Given the description of an element on the screen output the (x, y) to click on. 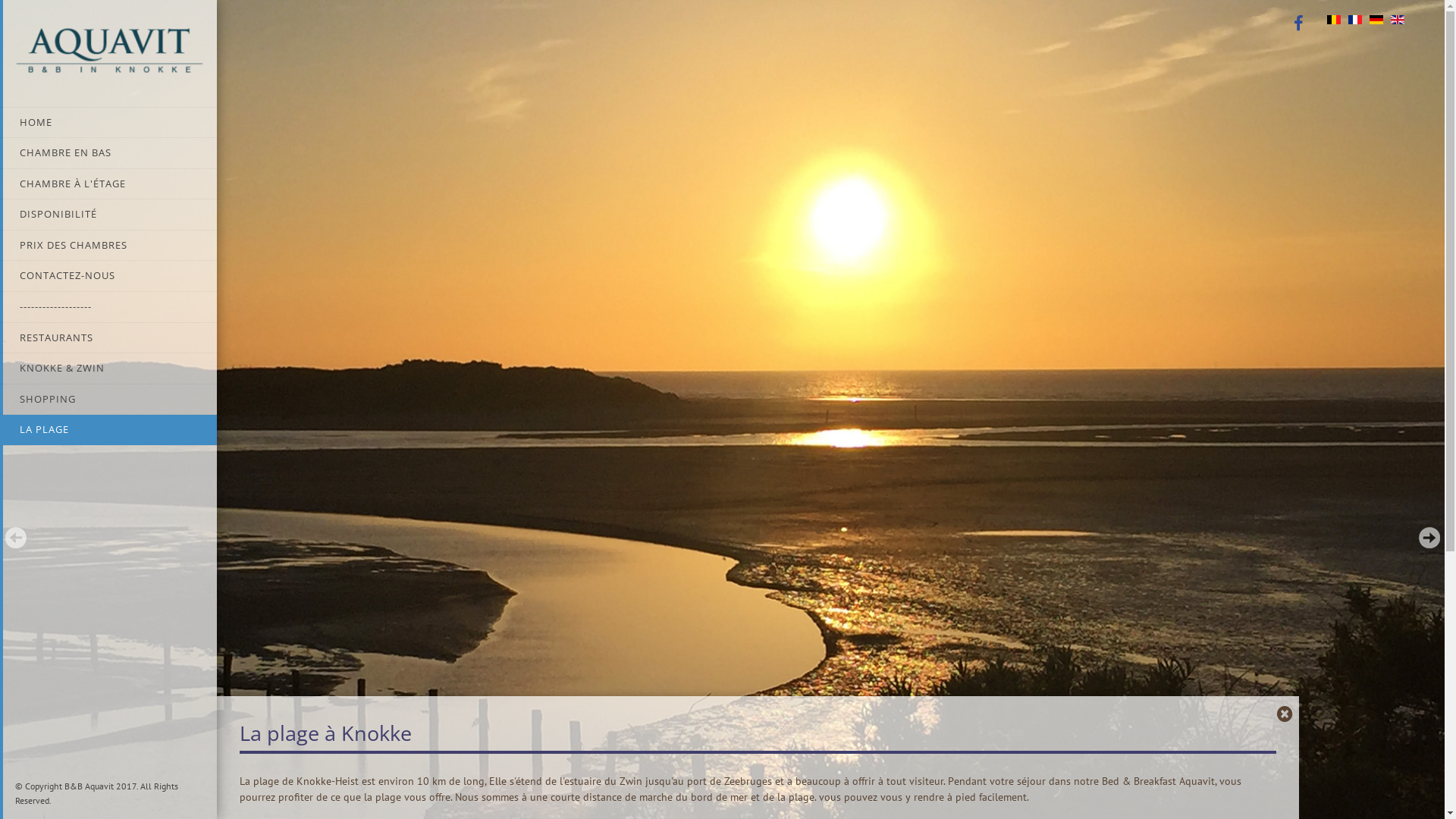
English (UK) Element type: hover (1397, 19)
RESTAURANTS Element type: text (108, 338)
HOME Element type: text (108, 122)
German (DE) Element type: hover (1376, 19)
French (FR) Element type: hover (1354, 19)
< Element type: text (14, 537)
CONTACTEZ-NOUS Element type: text (108, 275)
Facebook Element type: hover (1297, 21)
SHOPPING Element type: text (108, 399)
Nederlands Element type: hover (1333, 19)
> Element type: text (1429, 537)
LA PLAGE Element type: text (108, 429)
KNOKKE & ZWIN Element type: text (108, 368)
CHAMBRE EN BAS Element type: text (108, 153)
PRIX DES CHAMBRES Element type: text (108, 245)
